Given the description of an element on the screen output the (x, y) to click on. 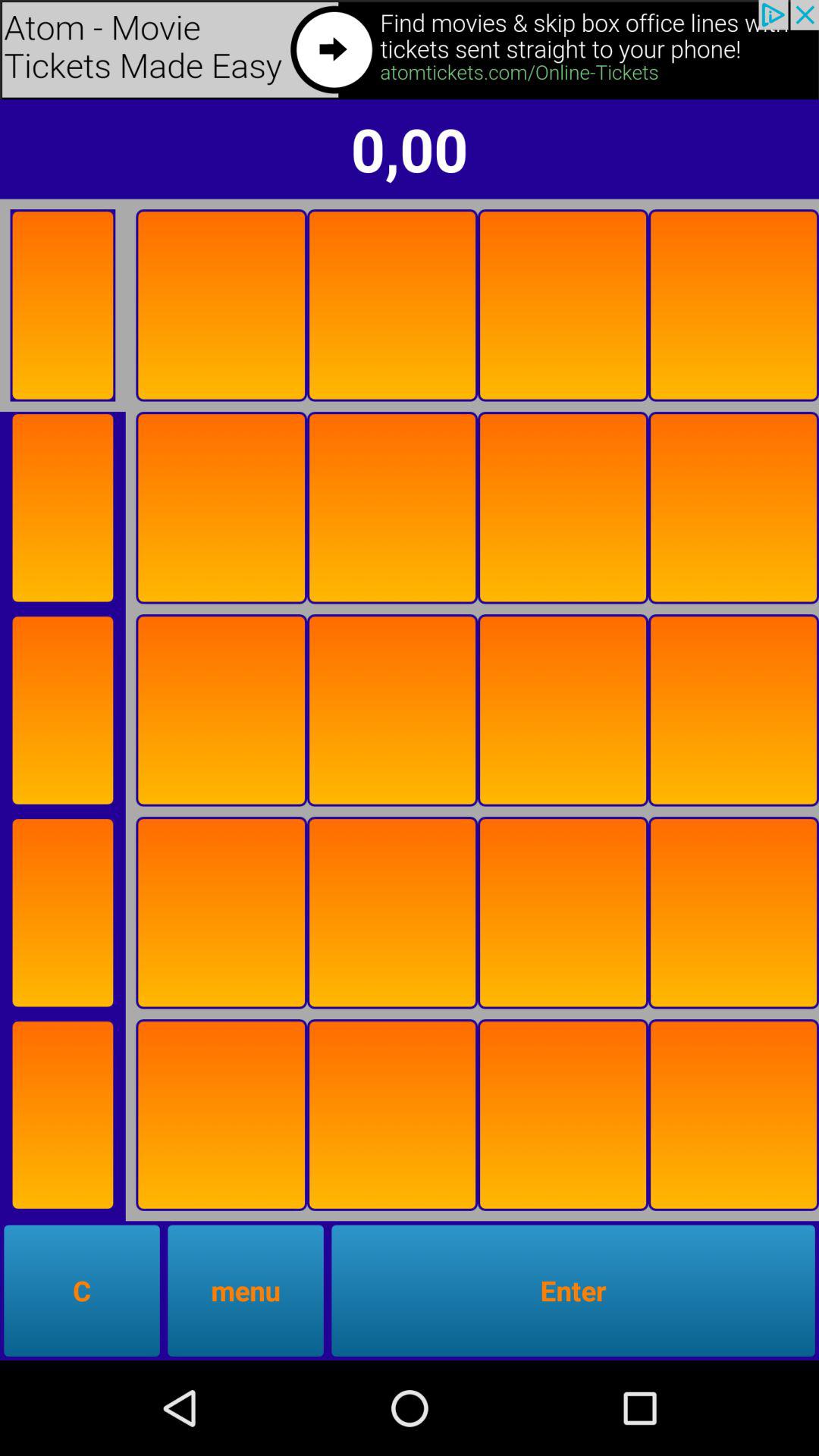
click highlighted tile (221, 710)
